Given the description of an element on the screen output the (x, y) to click on. 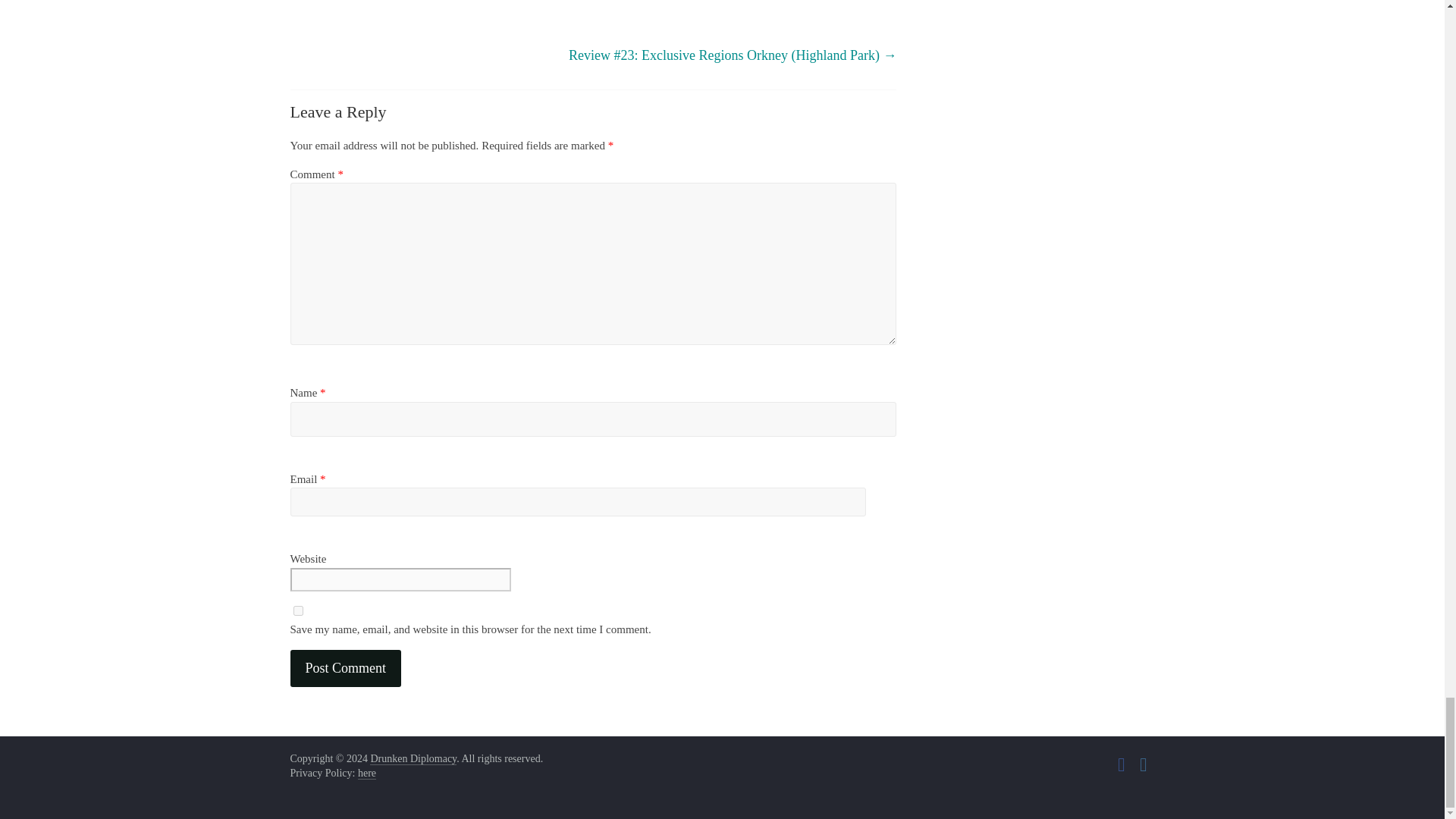
yes (297, 610)
Post Comment (345, 668)
